Given the description of an element on the screen output the (x, y) to click on. 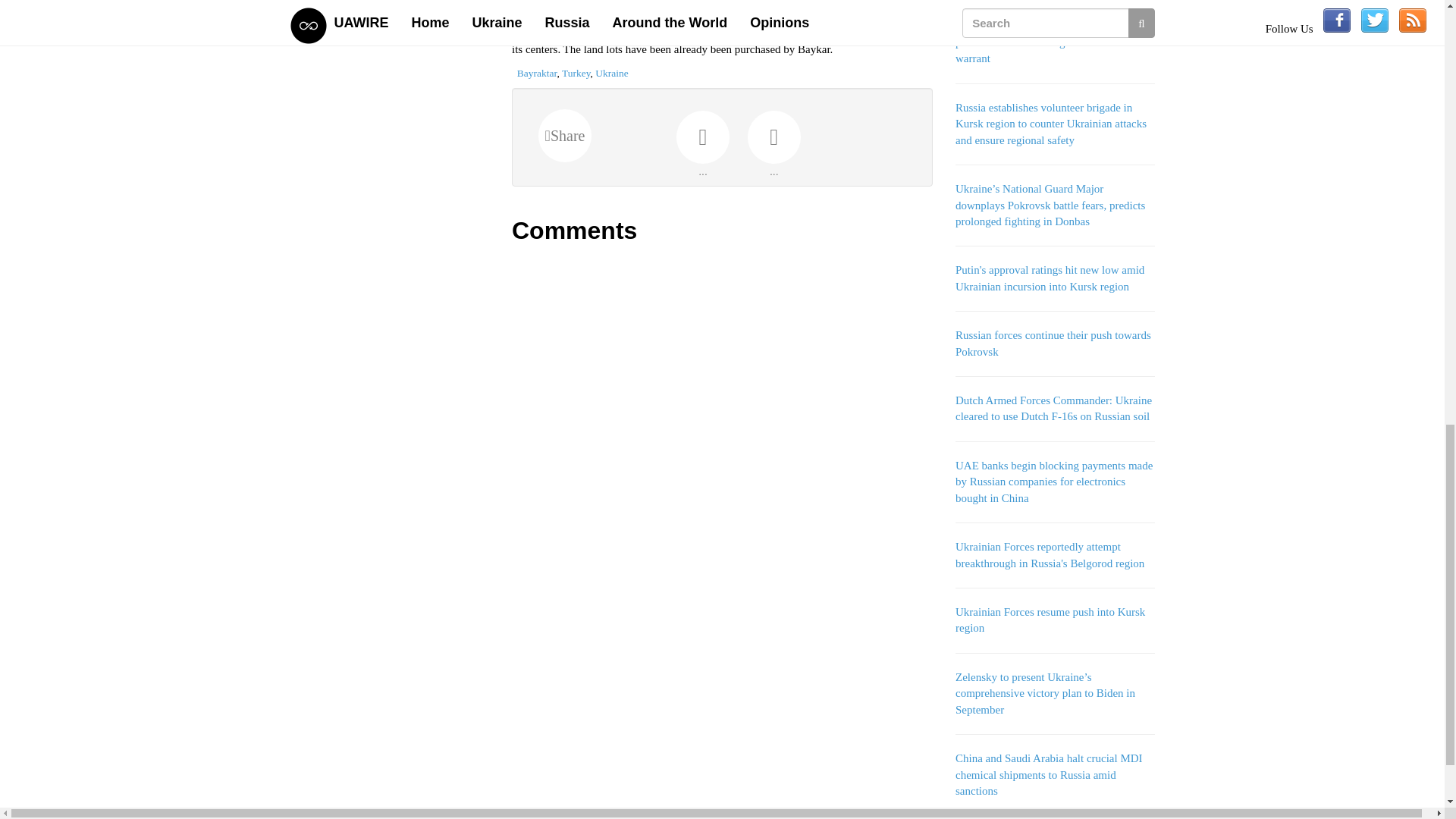
Ukraine (611, 72)
Turkey (576, 72)
Bayraktar (536, 72)
Ukrainian Forces resume push into Kursk region (1049, 619)
Russian forces continue their push towards Pokrovsk (1053, 343)
